Given the description of an element on the screen output the (x, y) to click on. 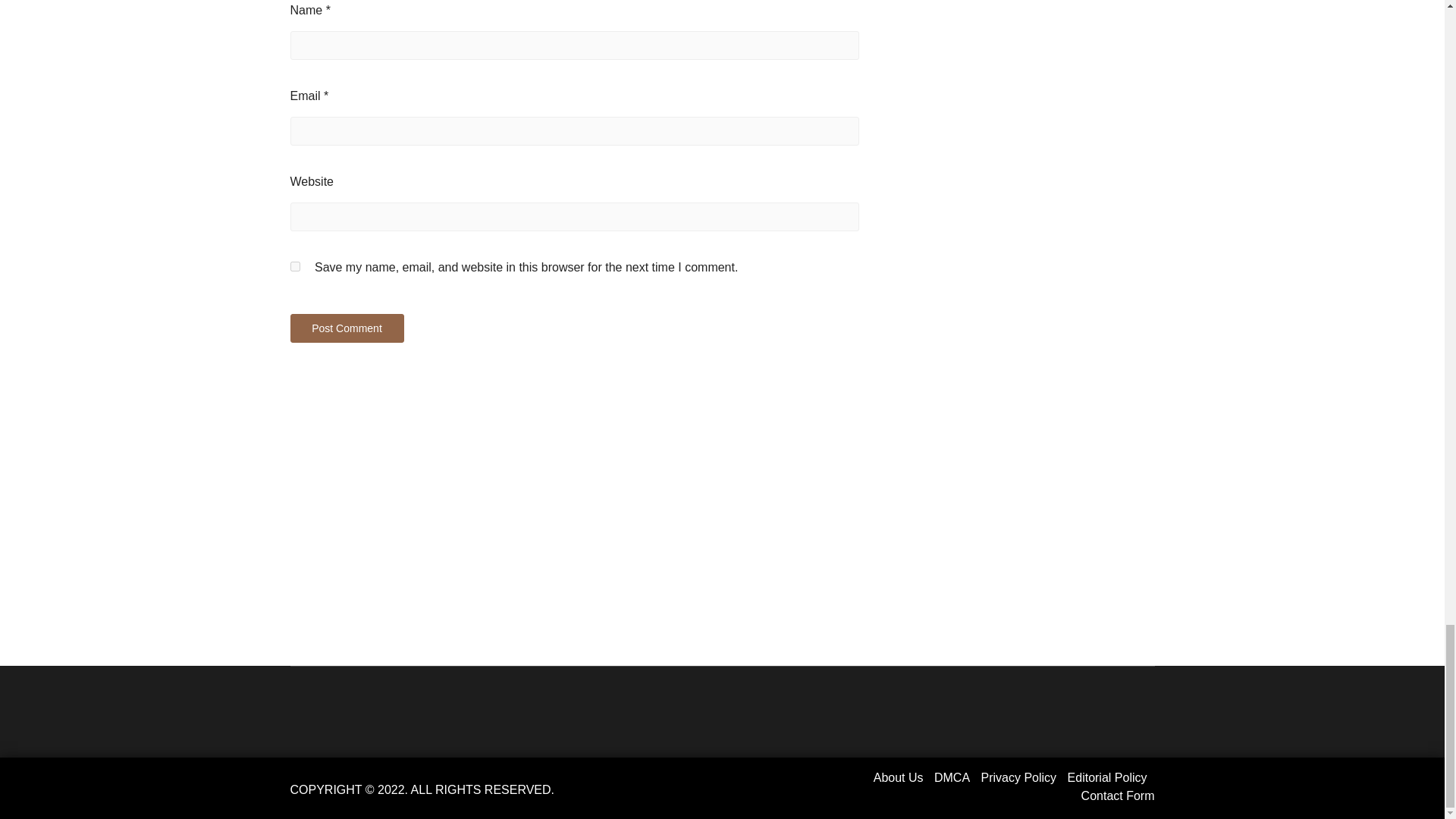
Post Comment (346, 328)
Post Comment (346, 328)
yes (294, 266)
